Given the description of an element on the screen output the (x, y) to click on. 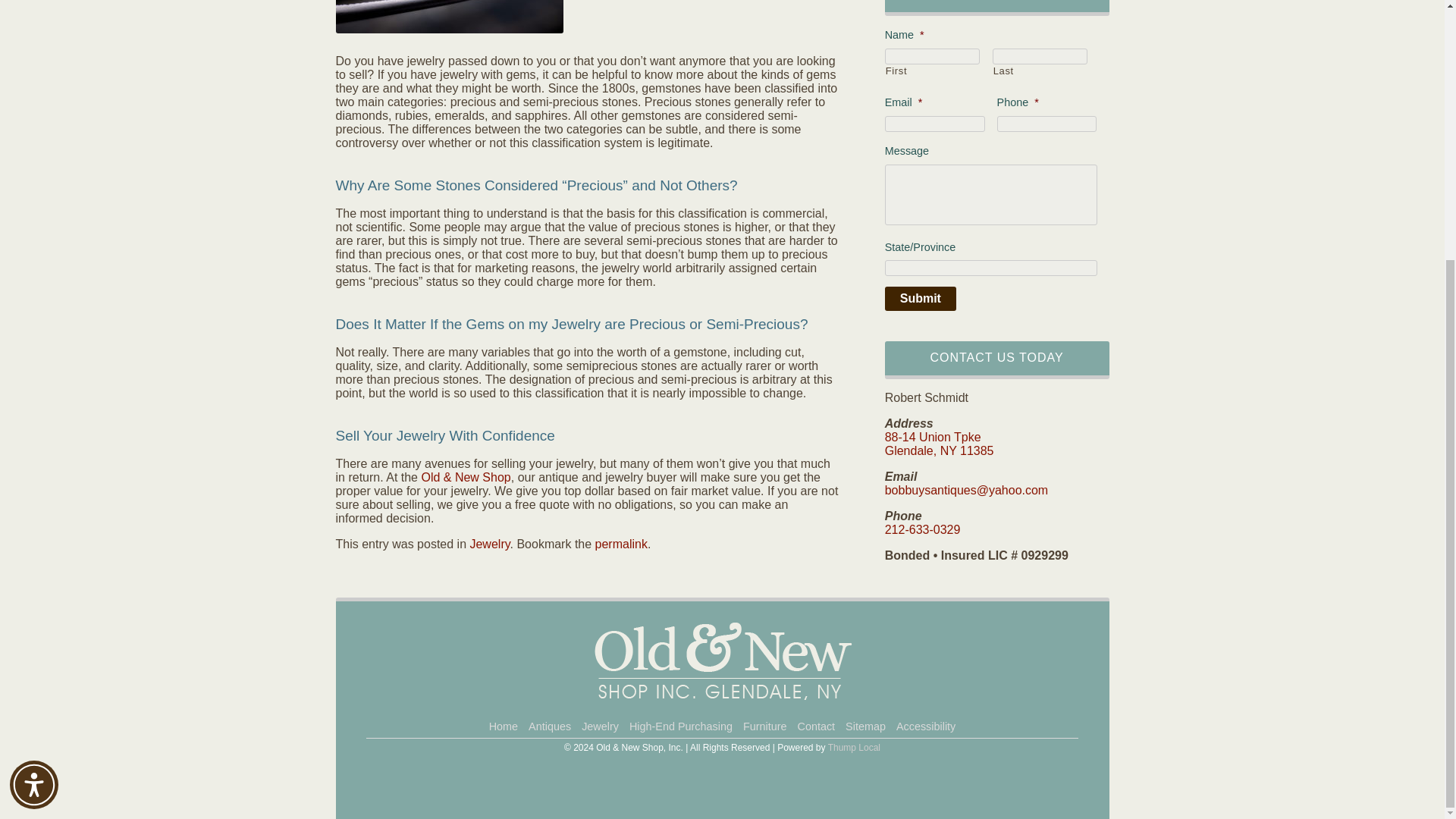
Glendale, NY 11385 (939, 450)
Accessibility Menu (34, 412)
Antiques (549, 726)
Sitemap (865, 726)
Home (502, 726)
Thump Local (854, 747)
Jewelry (600, 726)
Contact (815, 726)
Furniture (764, 726)
Submit (920, 298)
Accessibility (925, 726)
212-633-0329 (922, 529)
Submit (920, 298)
Jewelry (488, 543)
